Given the description of an element on the screen output the (x, y) to click on. 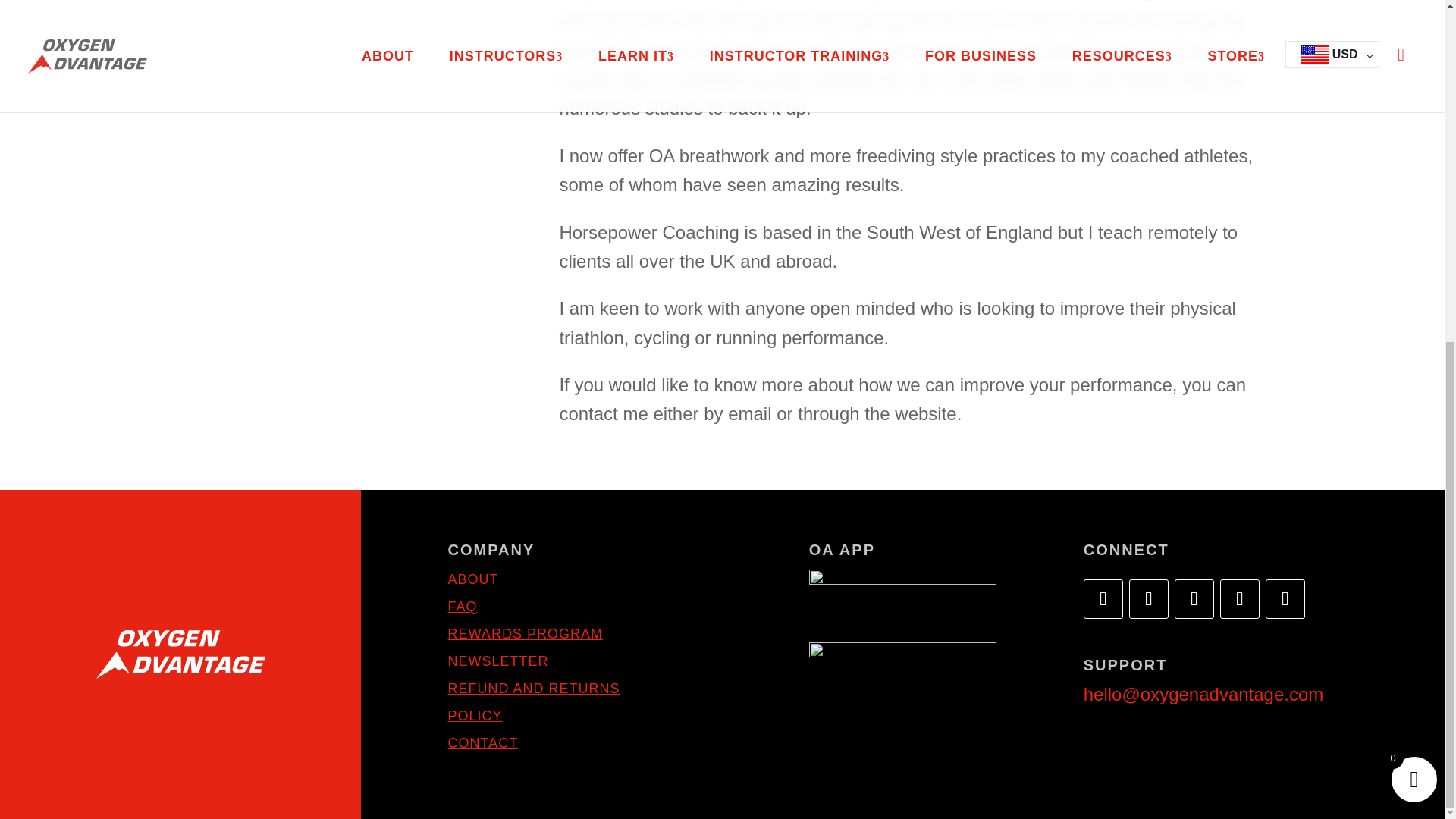
Follow on Facebook (1102, 599)
app-store-min (903, 598)
Follow on Instagram (1239, 599)
Follow on Youtube (1194, 599)
OA Logo navigation (180, 653)
Follow on X (1149, 599)
google-play-min (903, 670)
